Given the description of an element on the screen output the (x, y) to click on. 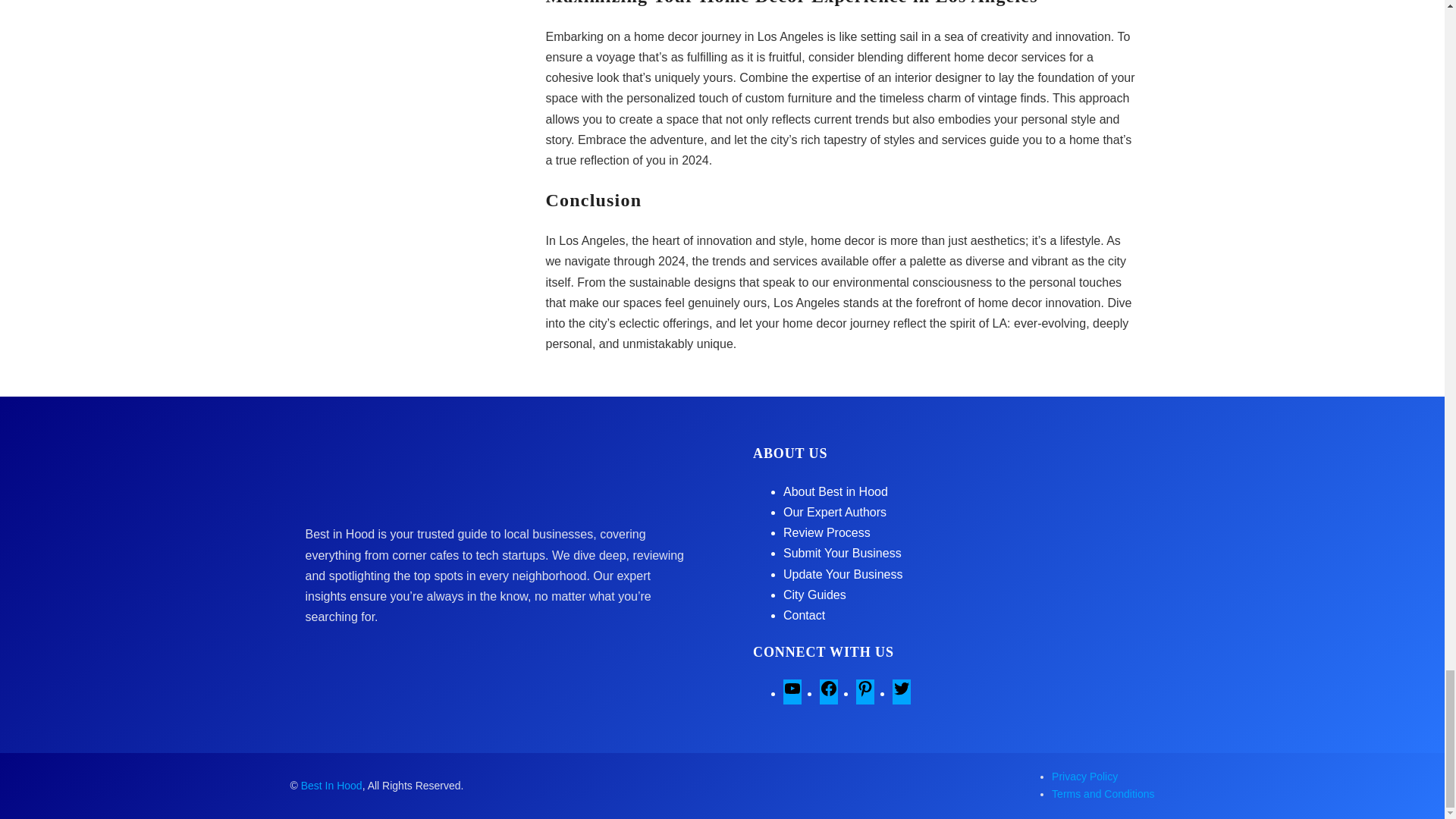
Twitter (901, 693)
About Best in Hood (835, 491)
Terms and Conditions (1102, 793)
Privacy Policy (1084, 776)
Update Your Business (842, 574)
YouTube (792, 693)
Submit Your Business (842, 553)
Facebook (828, 693)
Review Process (826, 532)
City Guides (814, 594)
Contact (804, 615)
Our Expert Authors (834, 512)
Best In Hood (331, 785)
Pinterest (865, 693)
